Given the description of an element on the screen output the (x, y) to click on. 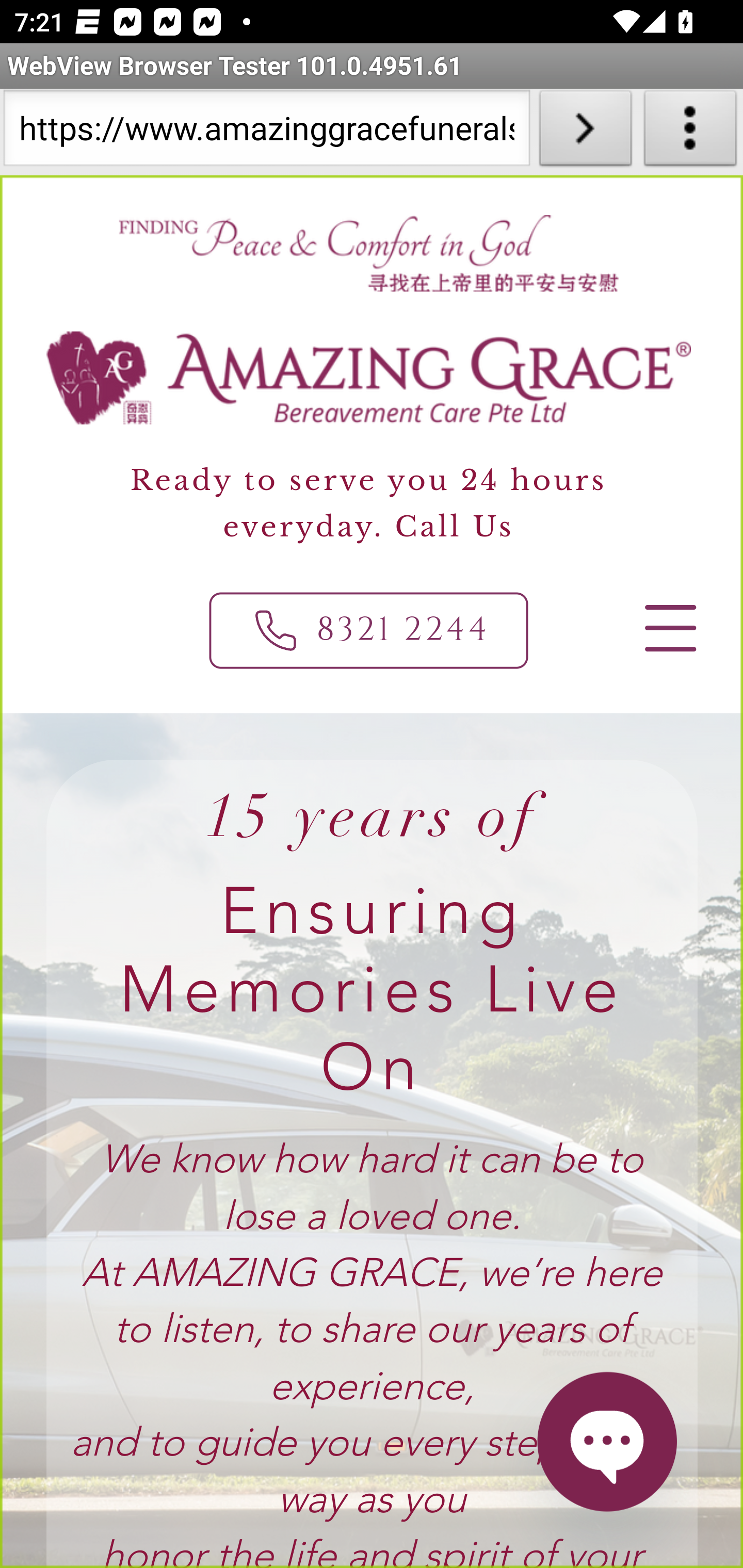
https://www.amazinggracefunerals.com/ (266, 132)
Load URL (585, 132)
About WebView (690, 132)
AG_H5 Finding God_edited.png (366, 253)
AG_H1 Logo Name_edited.png (369, 377)
Open navigation menu (669, 627)
8321 2244 (368, 630)
WhatsApp (606, 1440)
